Given the description of an element on the screen output the (x, y) to click on. 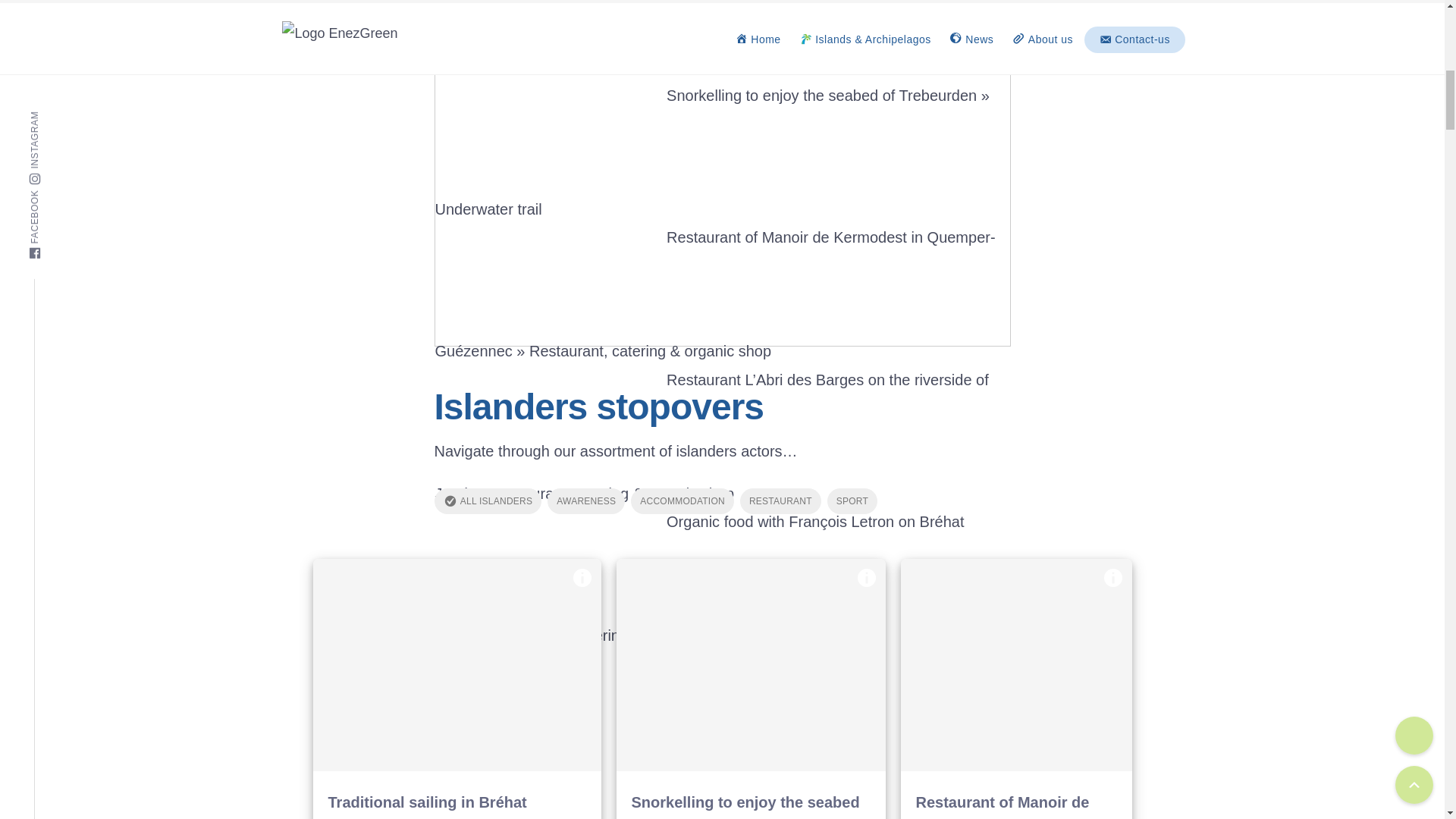
ACCOMMODATION (681, 501)
Snorkelling to enjoy the seabed of Trebeurden (750, 664)
AWARENESS (585, 501)
ALL ISLANDERS (487, 501)
RESTAURANT (780, 501)
SPORT (852, 501)
